Given the description of an element on the screen output the (x, y) to click on. 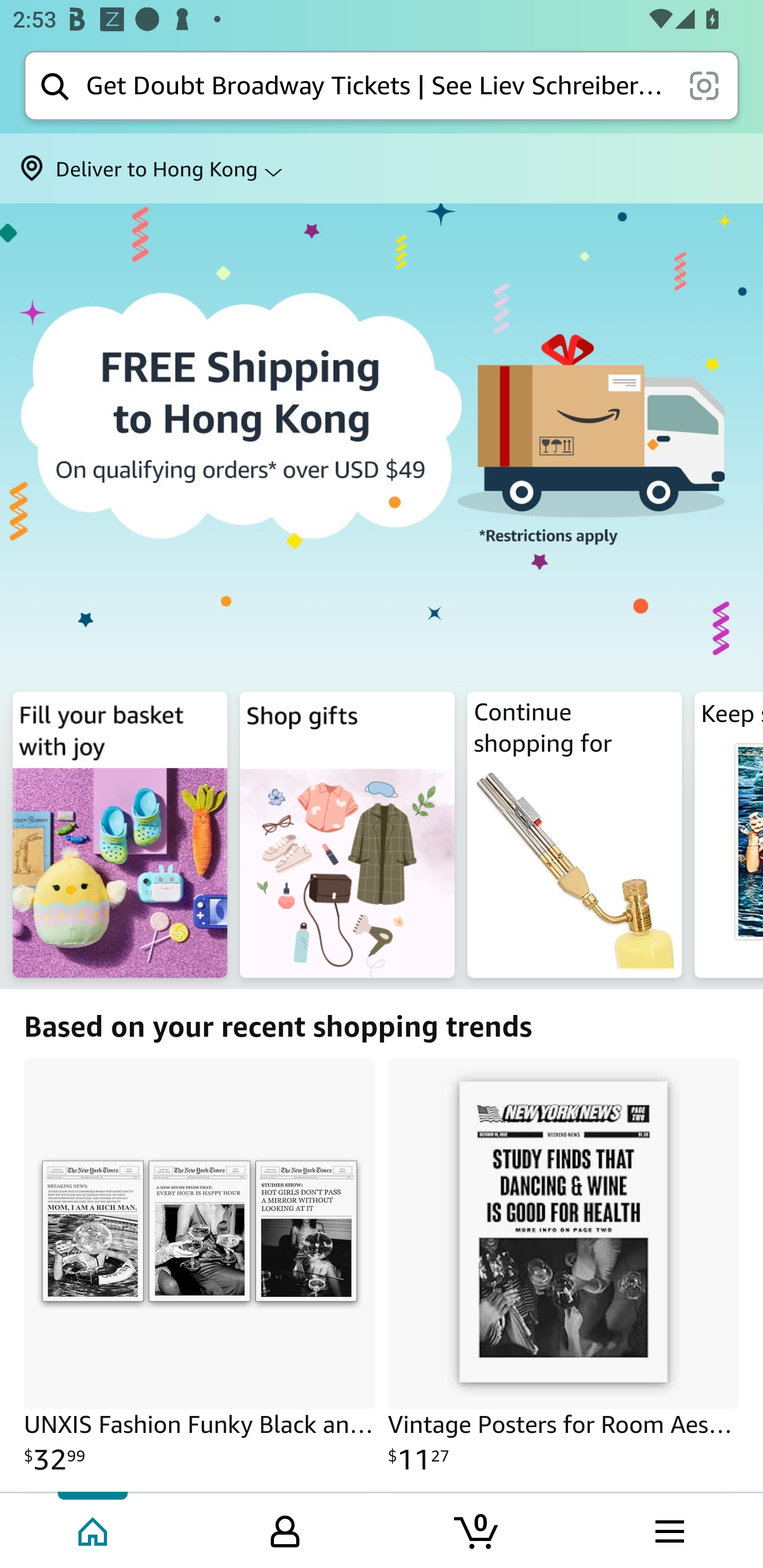
scan it (704, 85)
Deliver to Hong Kong ⌵ (381, 168)
Free shipping to Hong Kong (381, 444)
Home Tab 1 of 4 (94, 1529)
Your Amazon.com Tab 2 of 4 (285, 1529)
Cart 0 item Tab 3 of 4 0 (477, 1529)
Browse menu Tab 4 of 4 (668, 1529)
